Given the description of an element on the screen output the (x, y) to click on. 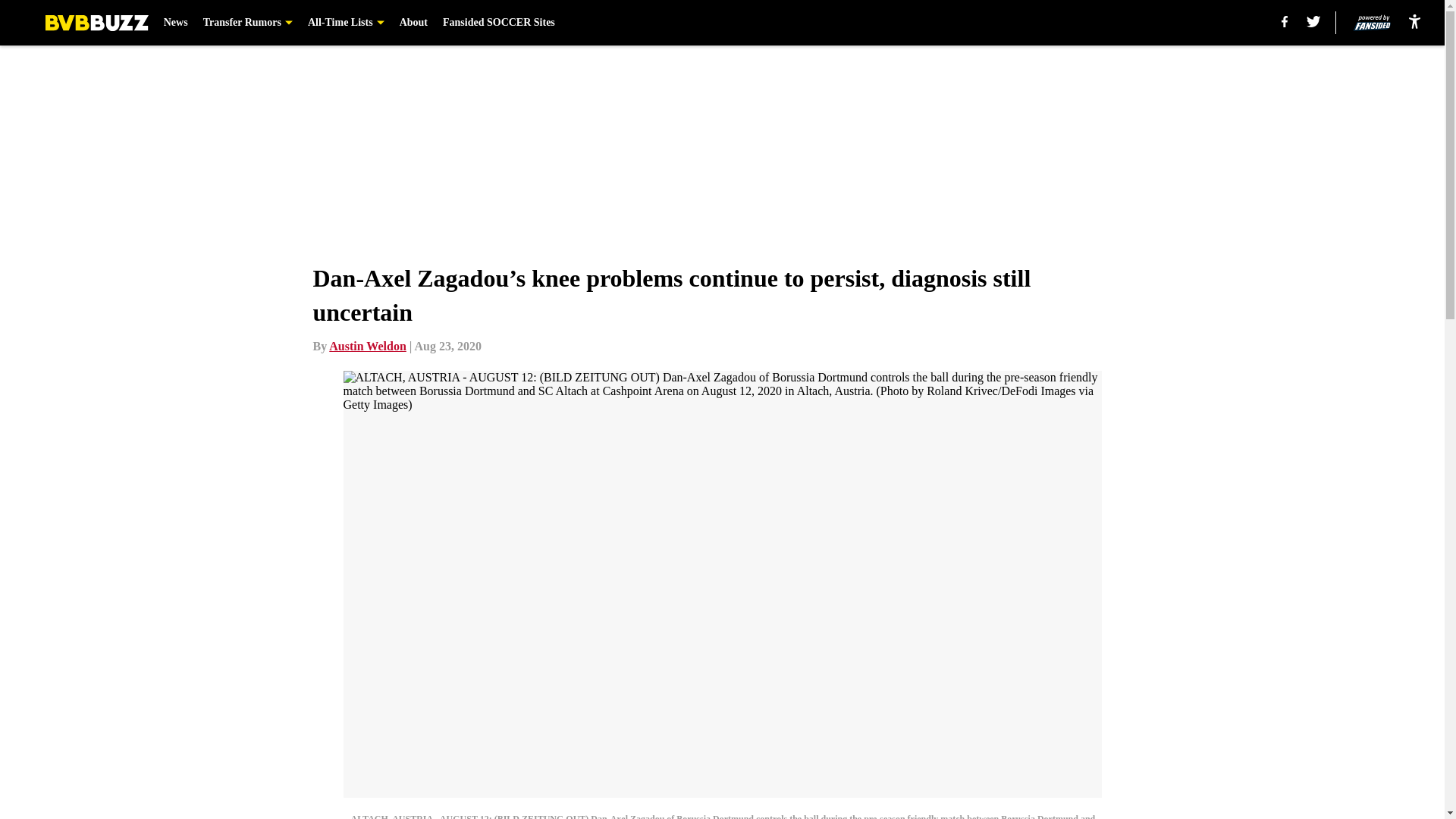
News (175, 22)
Austin Weldon (367, 345)
About (413, 22)
Fansided SOCCER Sites (498, 22)
